Given the description of an element on the screen output the (x, y) to click on. 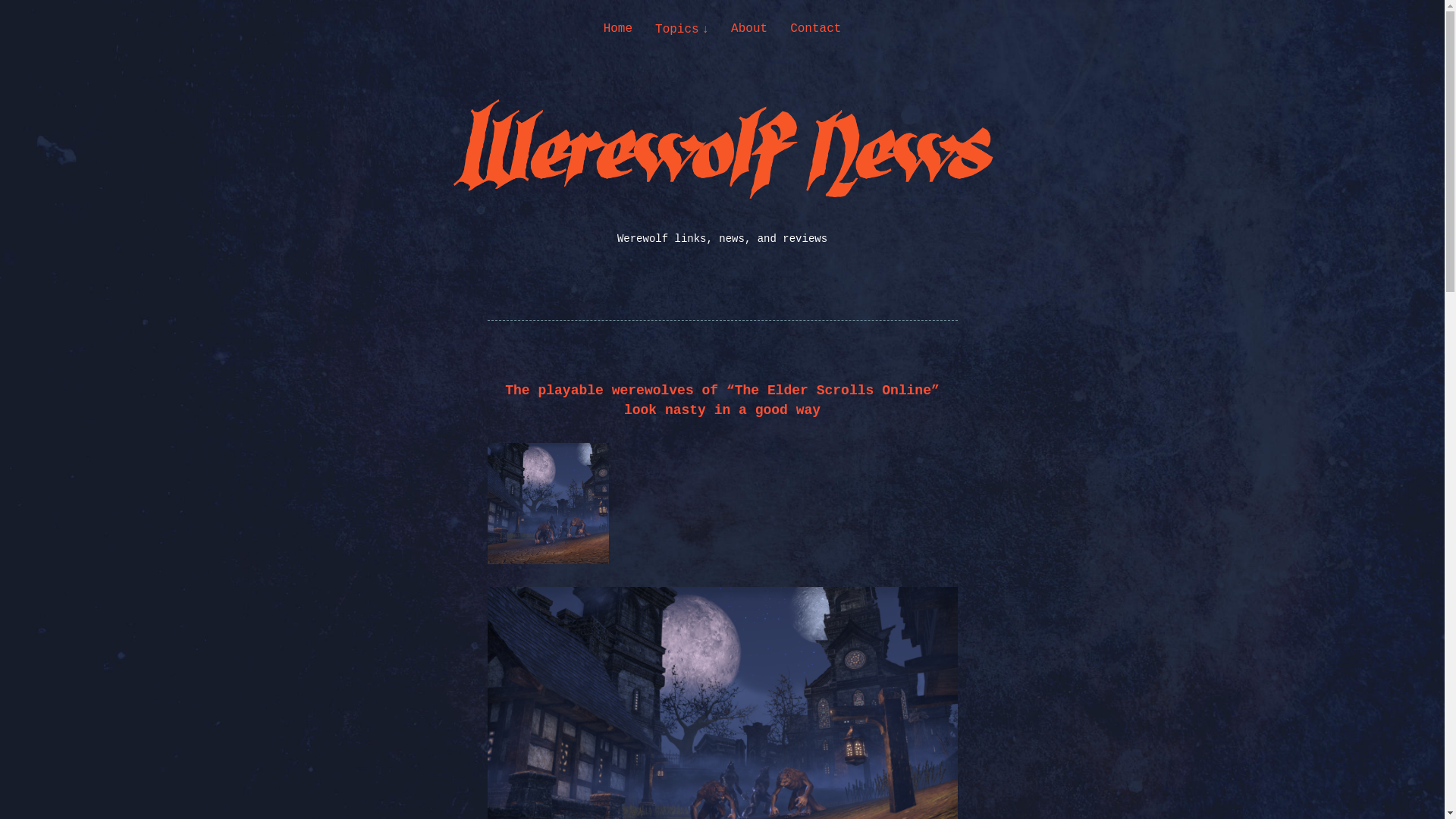
Home (617, 29)
About (748, 29)
Topics (681, 29)
Werewolf News (143, 186)
Contact (815, 29)
